Given the description of an element on the screen output the (x, y) to click on. 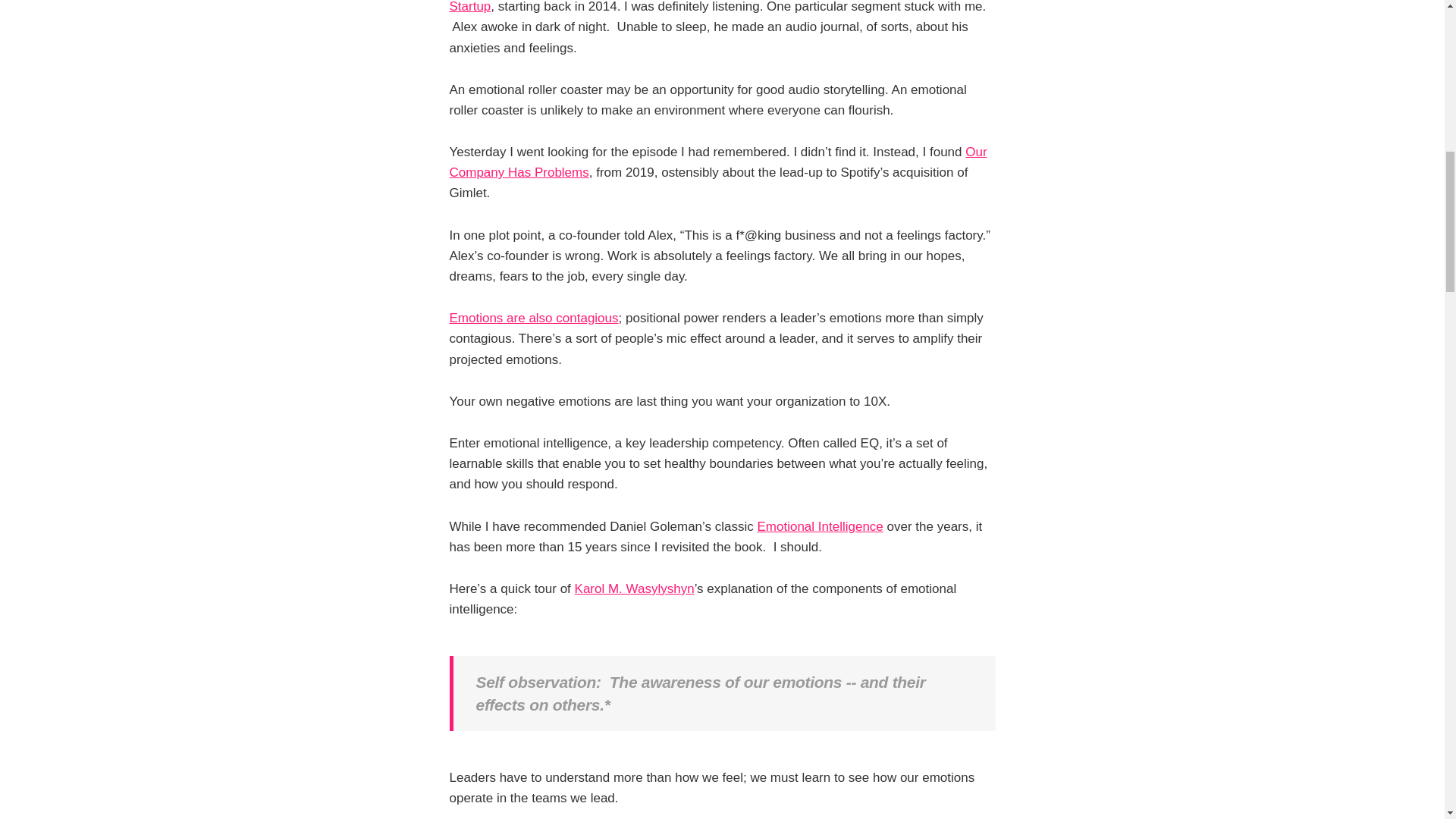
Our Company Has Problems (717, 161)
Startup (469, 6)
Karol M. Wasylyshyn (634, 588)
Emotions are also contagious (532, 318)
Emotional Intelligence (819, 526)
